Given the description of an element on the screen output the (x, y) to click on. 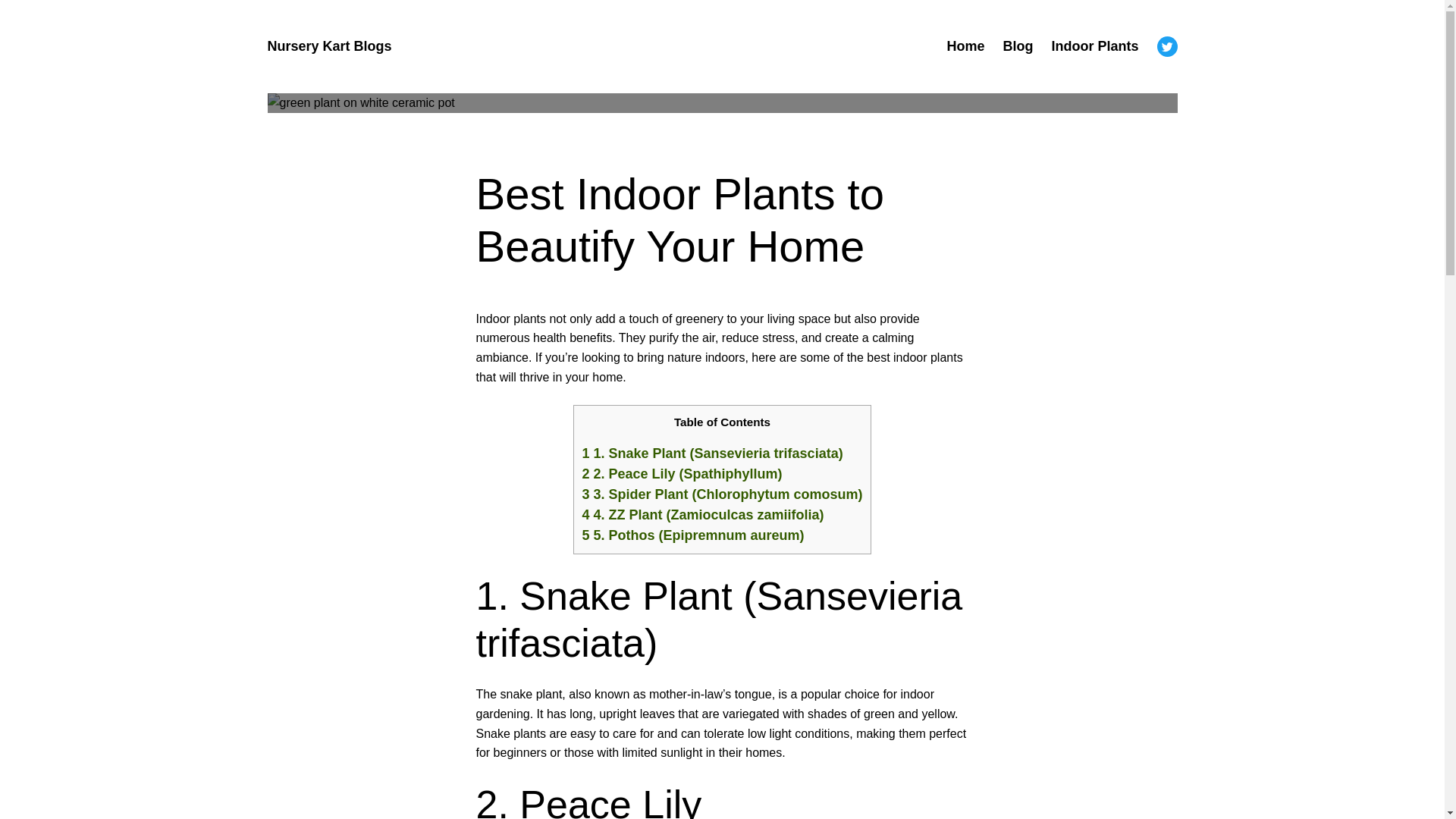
Nursery Kart Blogs (328, 46)
Blog (1017, 46)
Home (965, 46)
Twitter (1167, 46)
Indoor Plants (1094, 46)
